Given the description of an element on the screen output the (x, y) to click on. 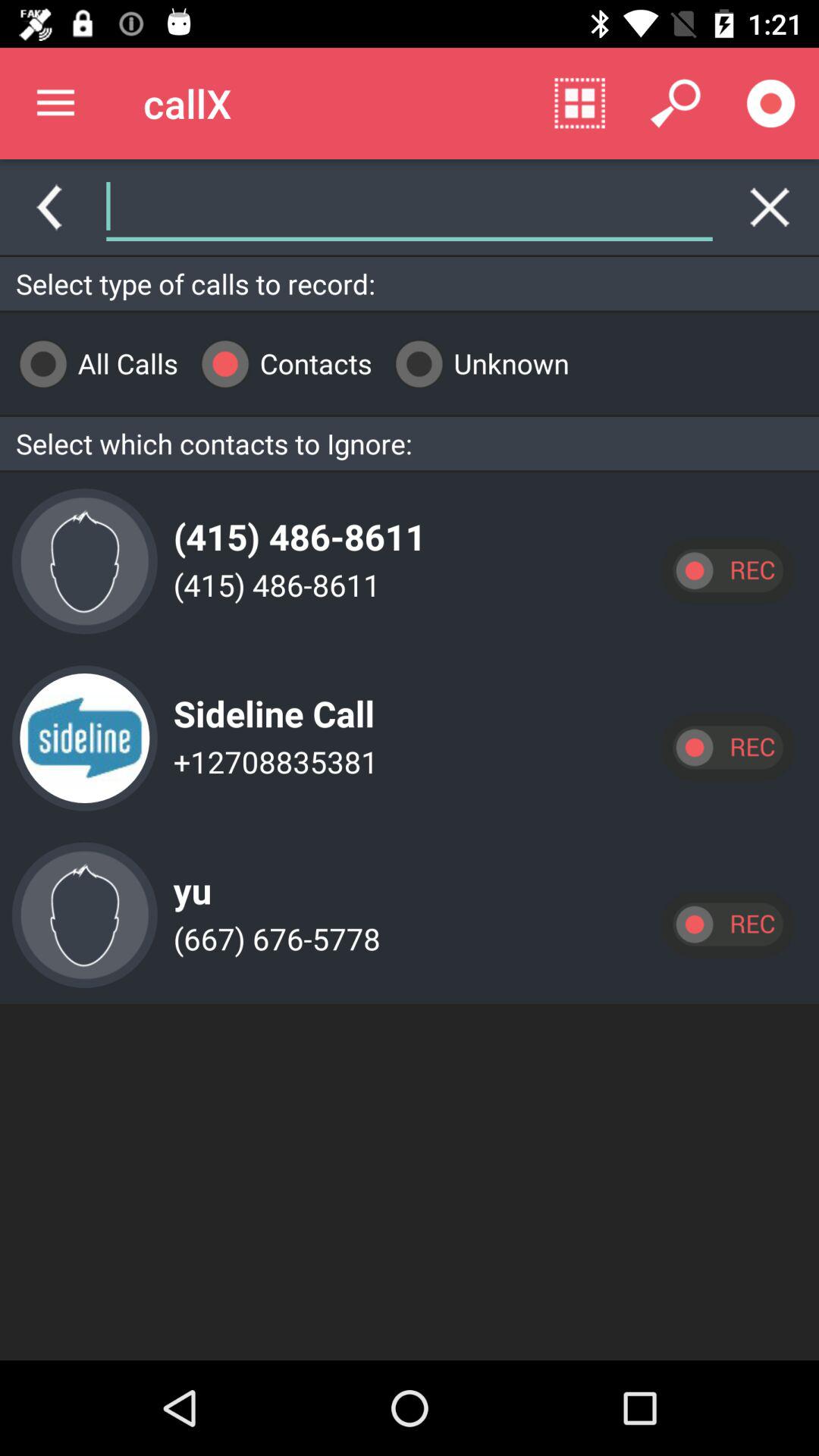
record call (727, 570)
